Given the description of an element on the screen output the (x, y) to click on. 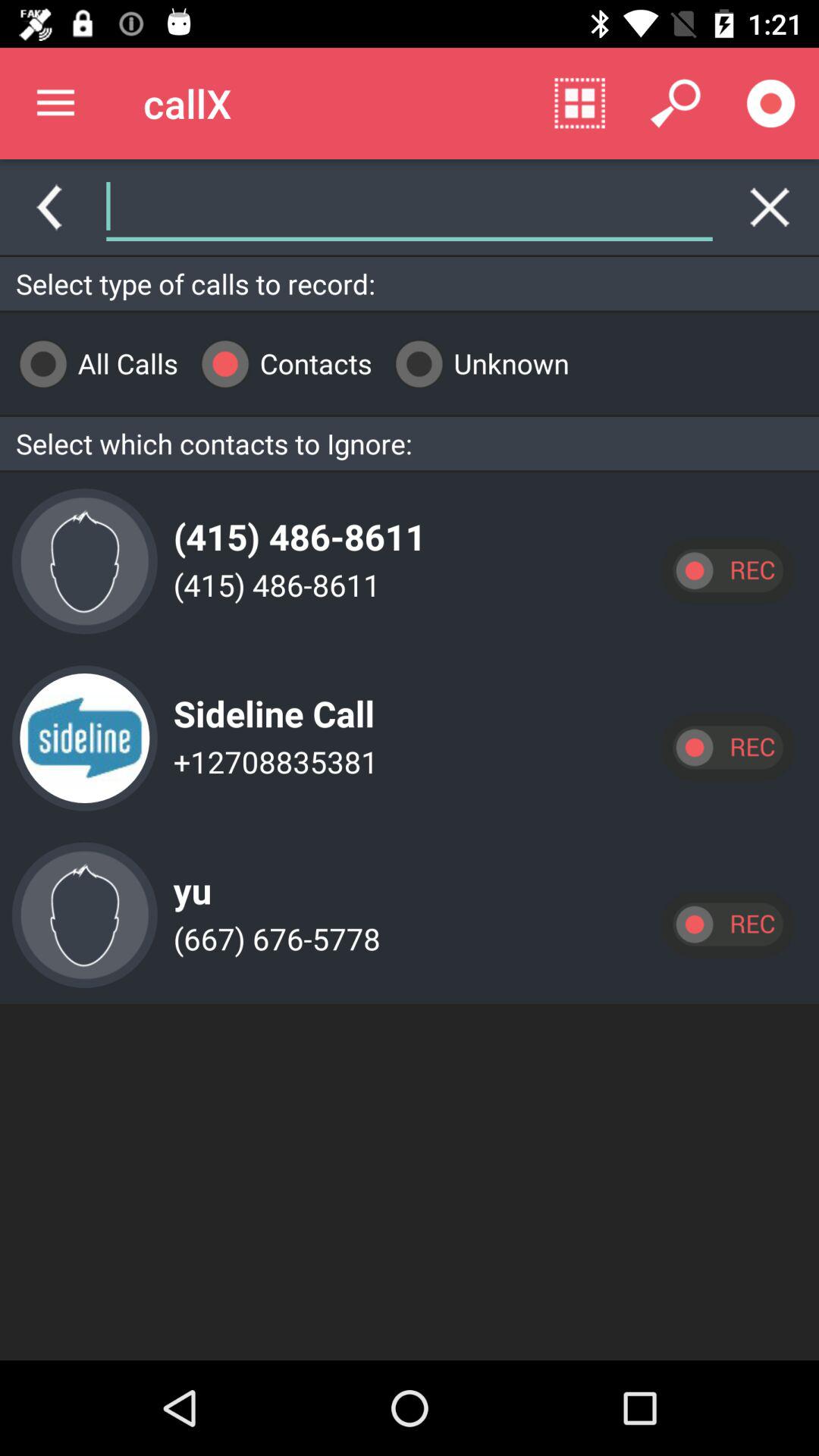
record call (727, 570)
